Given the description of an element on the screen output the (x, y) to click on. 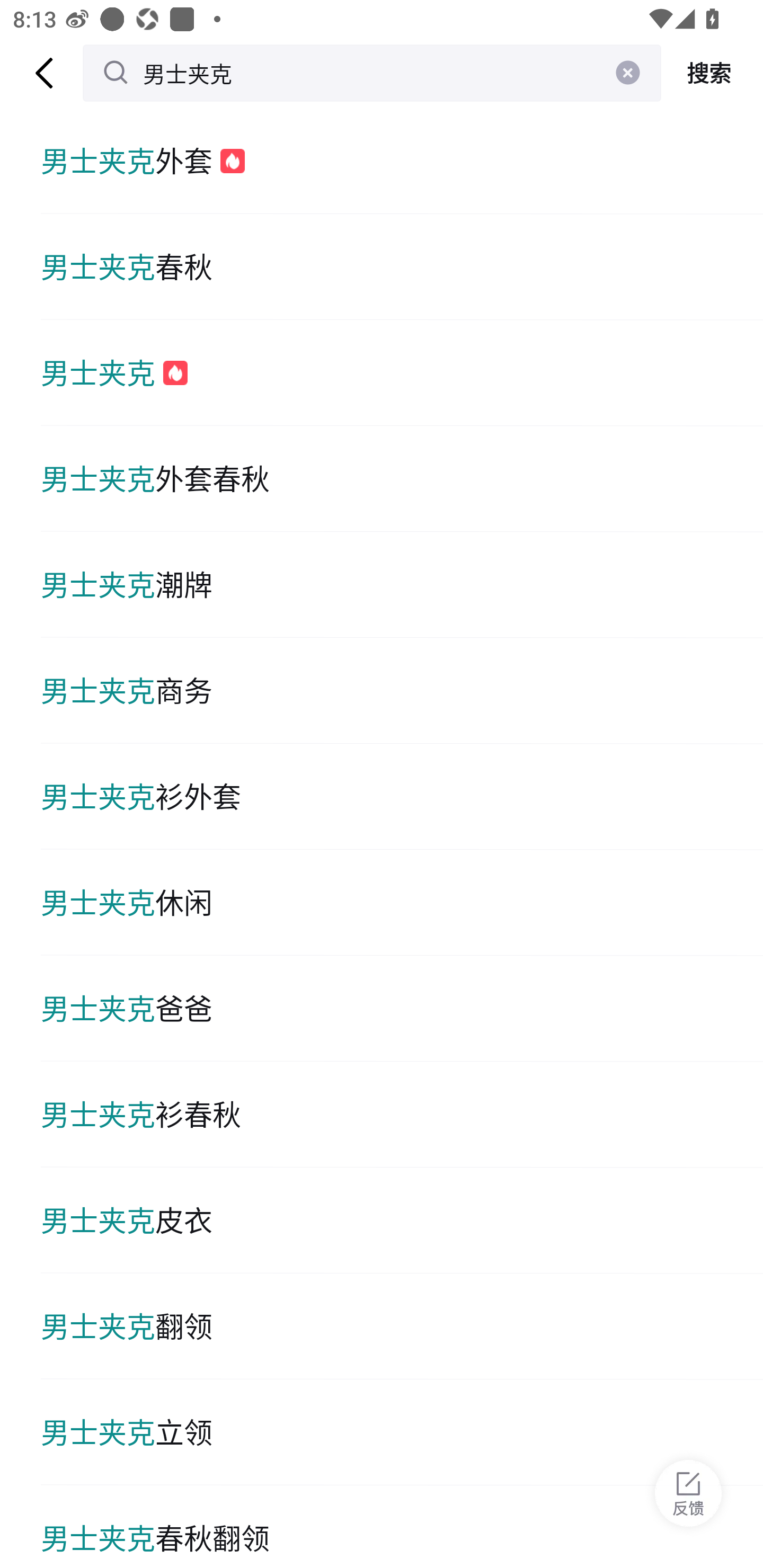
搜索 (712, 72)
男士夹克 (371, 72)
男士夹克外套 (401, 160)
男士夹克春秋 (401, 266)
男士夹克 (401, 372)
男士夹克外套春秋 (401, 478)
男士夹克潮牌 (401, 584)
男士夹克商务 (401, 690)
男士夹克衫外套 (401, 796)
男士夹克休闲 (401, 901)
男士夹克爸爸 (401, 1007)
男士夹克衫春秋 (401, 1114)
男士夹克皮衣 (401, 1220)
男士夹克翻领 (401, 1326)
男士夹克立领 (401, 1431)
男士夹克春秋翻领 (401, 1526)
